Given the description of an element on the screen output the (x, y) to click on. 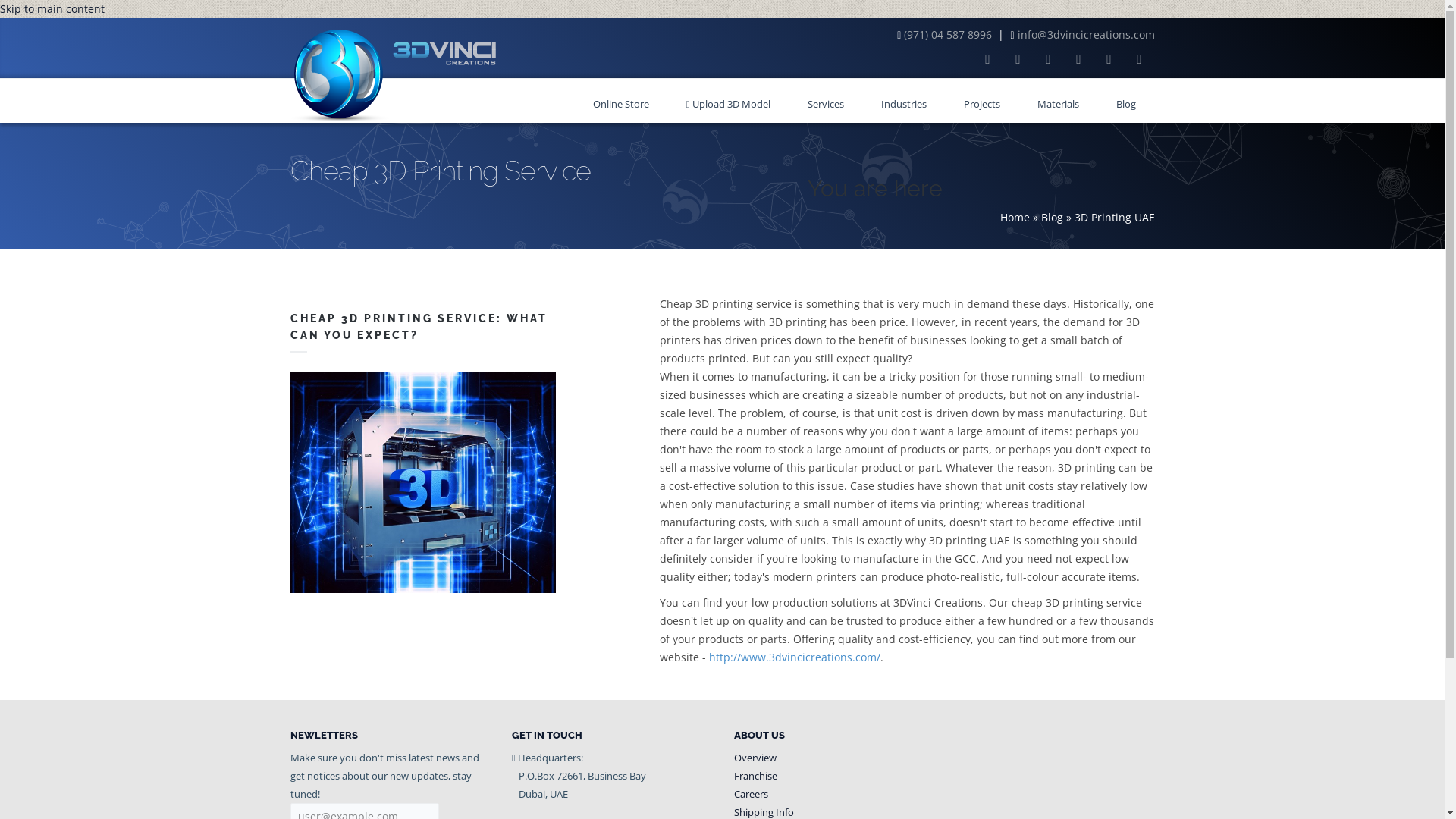
http://www.3dvincicreations.com/ Element type: text (794, 656)
Online Store Element type: text (619, 102)
Projects Element type: text (980, 102)
Careers Element type: text (751, 793)
Materials Element type: text (1058, 102)
Home Element type: text (1014, 217)
Franchise Element type: text (755, 775)
info@3dvincicreations.com Element type: text (1085, 34)
solutions Element type: text (854, 602)
Overview Element type: text (755, 757)
Skip to main content Element type: text (52, 8)
3D Printing UAE Element type: text (1113, 217)
Upload 3D Model Element type: text (728, 102)
